Given the description of an element on the screen output the (x, y) to click on. 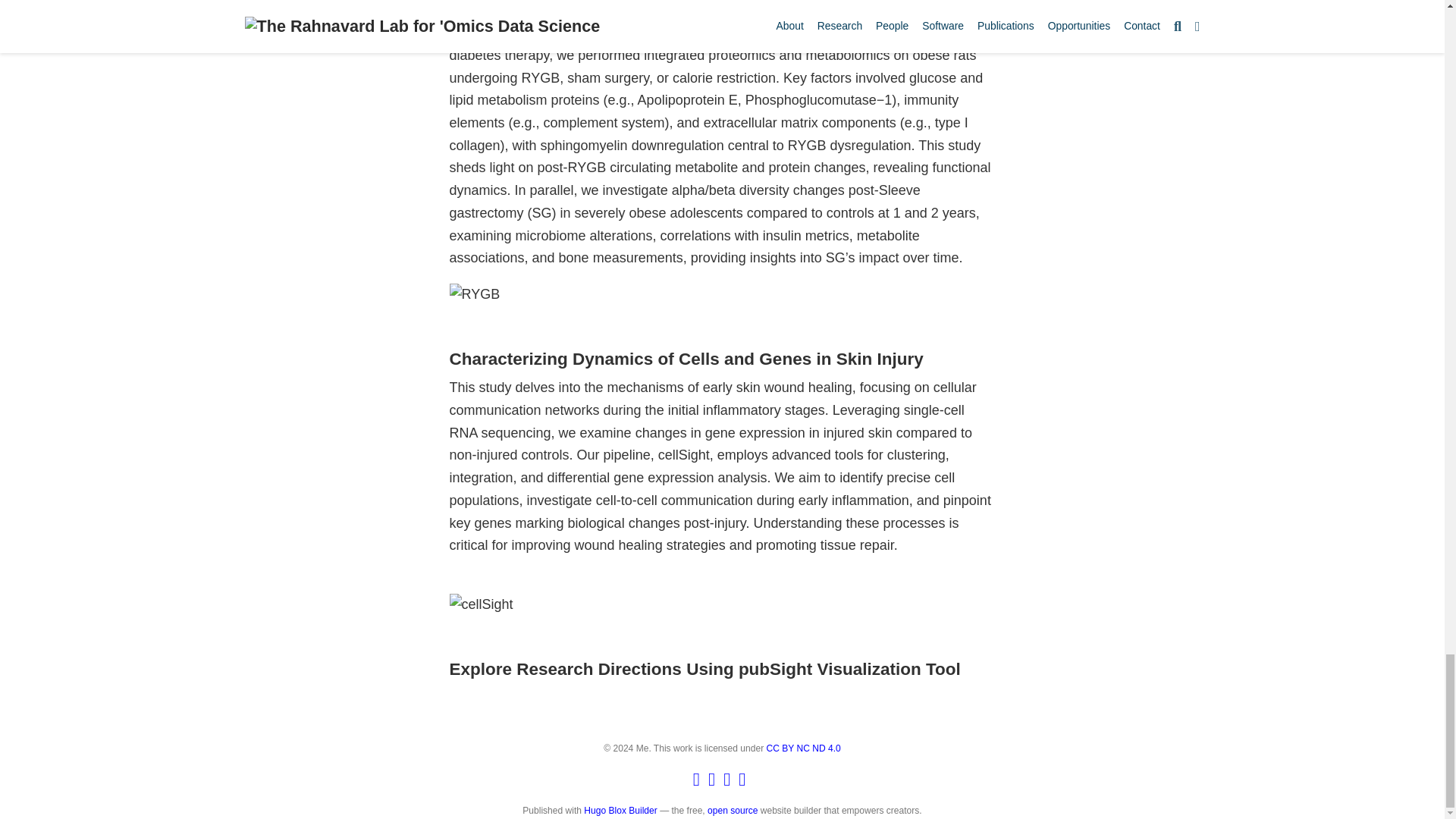
open source (732, 810)
CC BY NC ND 4.0 (804, 747)
Hugo Blox Builder (619, 810)
